Given the description of an element on the screen output the (x, y) to click on. 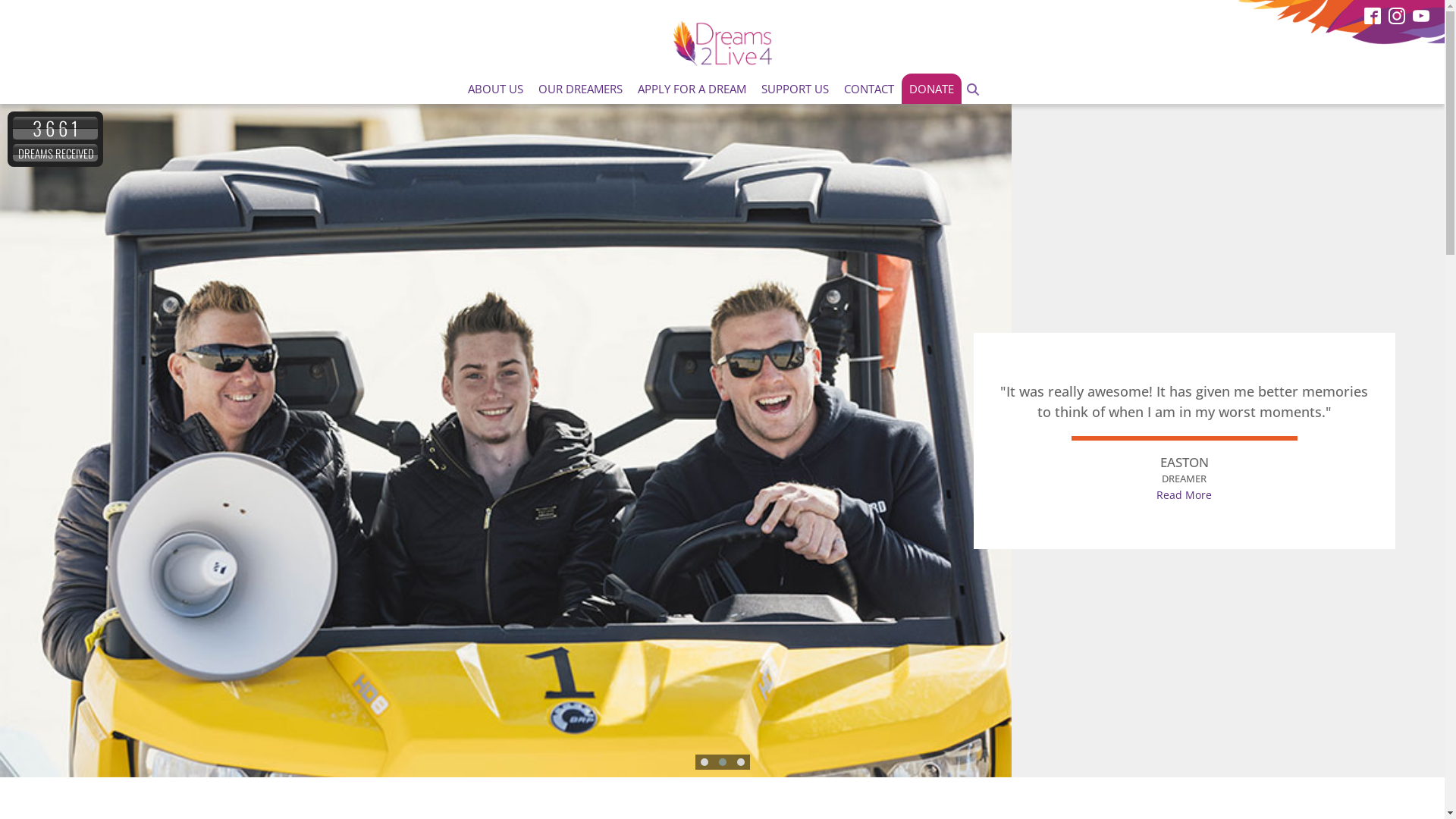
CONTACT Element type: text (868, 88)
Search Element type: text (11, 9)
DONATE Element type: text (931, 88)
OUR DREAMERS Element type: text (580, 88)
APPLY FOR A DREAM Element type: text (691, 88)
SUPPORT US Element type: text (794, 88)
ABOUT US Element type: text (495, 88)
